Given the description of an element on the screen output the (x, y) to click on. 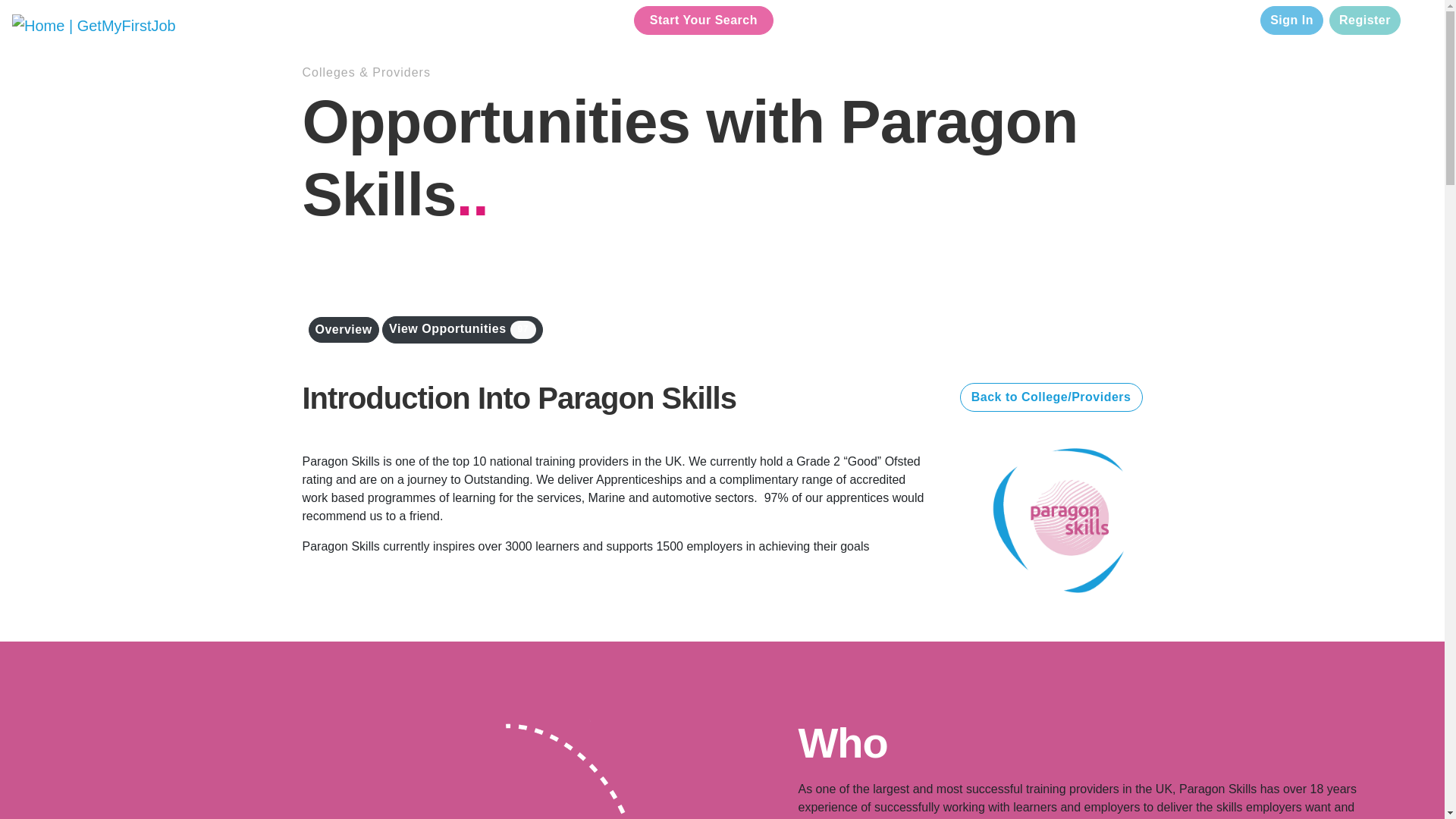
View Opportunities 97 (462, 329)
Overview (342, 329)
Start Your Search (703, 20)
Register (1364, 20)
White Arrows (360, 768)
Paragon Skills (1065, 519)
Sign In (1291, 20)
Register (1364, 20)
Sign In (1291, 20)
